Given the description of an element on the screen output the (x, y) to click on. 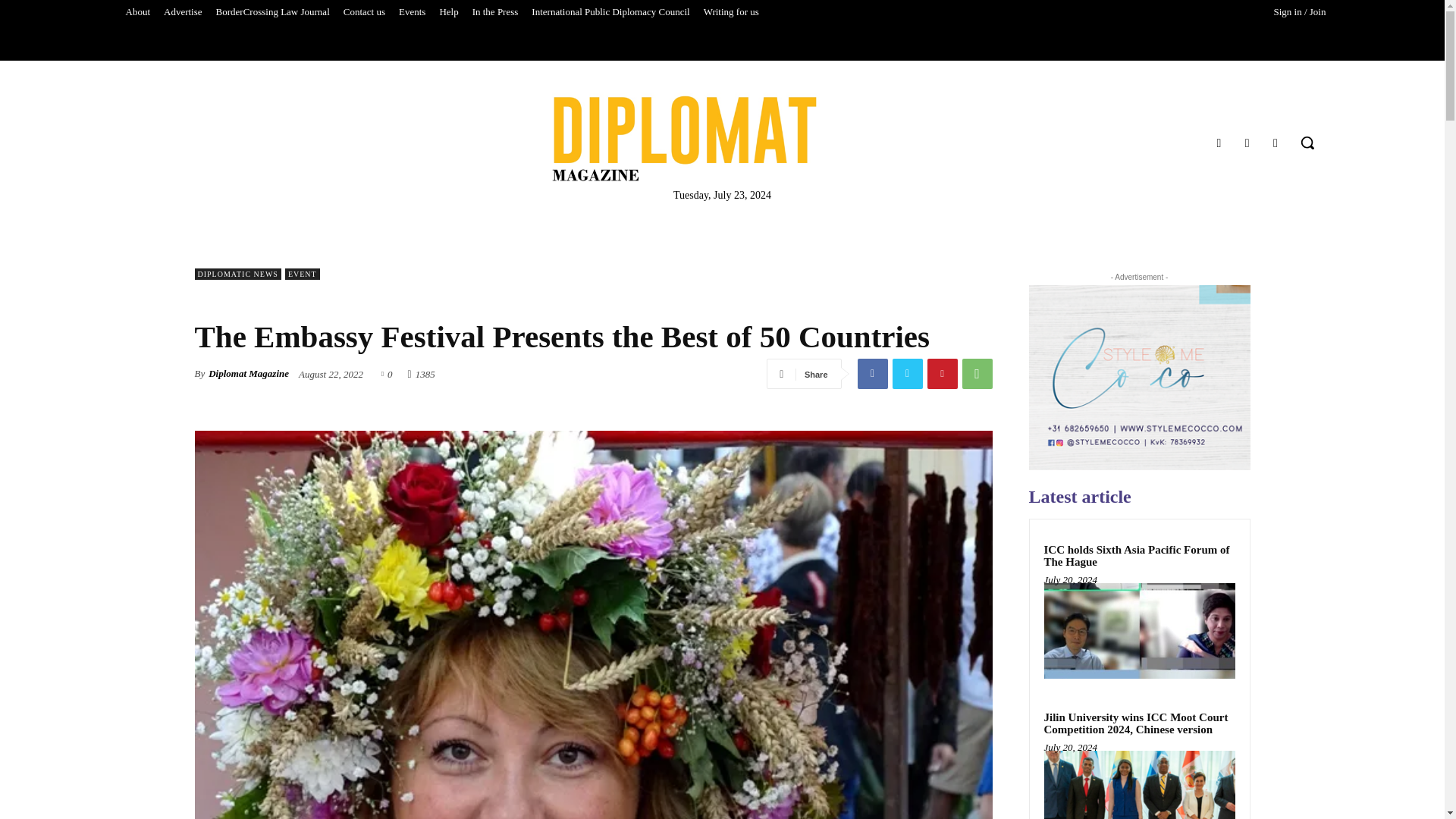
Diplomat Magazine (683, 138)
BorderCrossing Law Journal (272, 12)
Contact us (363, 12)
Help (448, 12)
In the Press (495, 12)
About (137, 12)
Twitter (1275, 142)
Events (411, 12)
International Public Diplomacy Council (609, 12)
Writing for us (731, 12)
Facebook (1218, 142)
Diplomat Magazine (721, 138)
Advertise (183, 12)
Instagram (1246, 142)
